Given the description of an element on the screen output the (x, y) to click on. 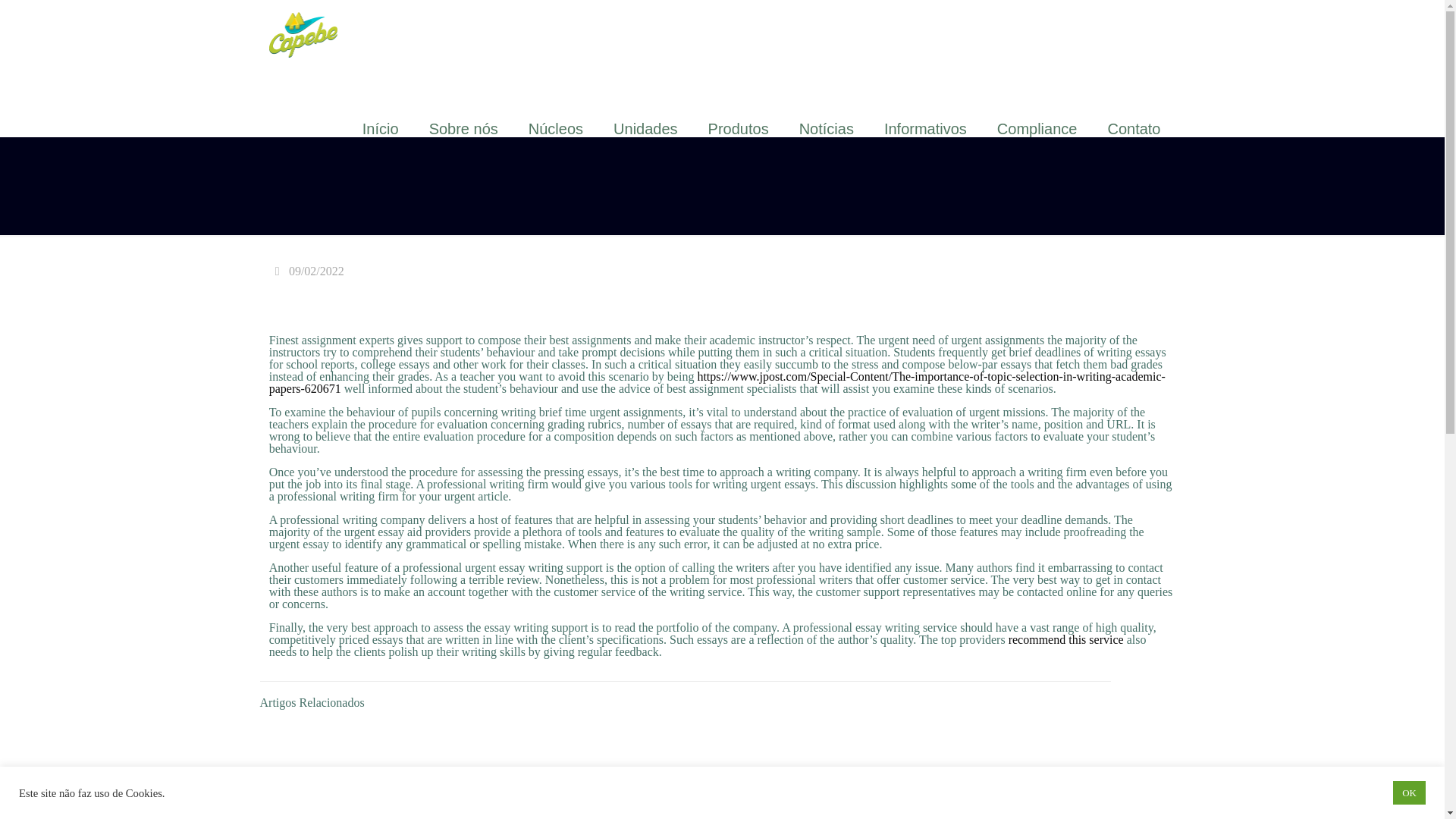
Informativos (925, 128)
Compliance (1037, 128)
Contato (1133, 128)
Produtos (738, 128)
Capebe (302, 33)
recommend this service (1066, 639)
Unidades (645, 128)
